Given the description of an element on the screen output the (x, y) to click on. 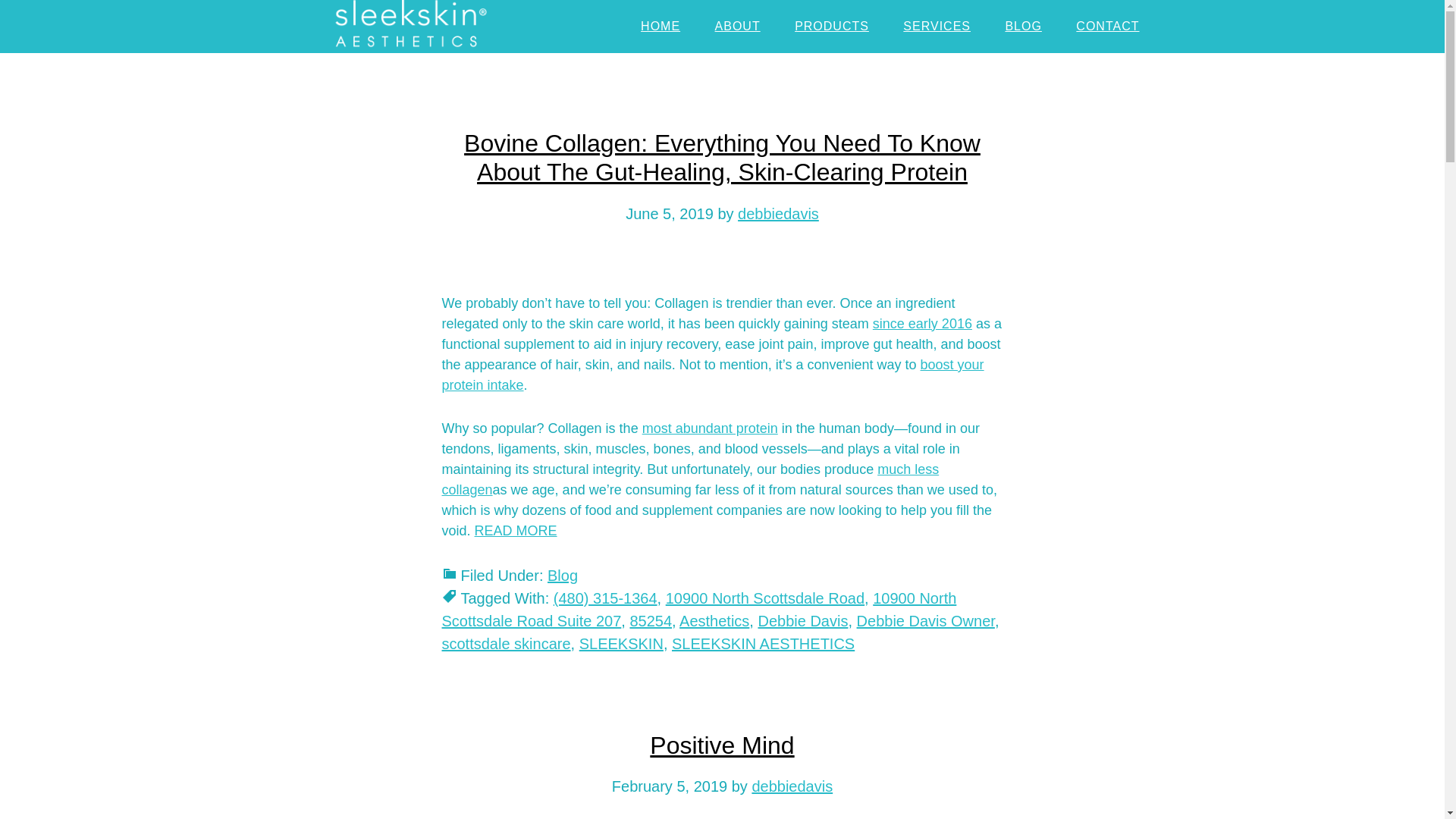
debbiedavis (778, 213)
most abundant protein (709, 427)
scottsdale skincare (505, 643)
BLOG (1023, 26)
Debbie Davis (802, 620)
10900 North Scottsdale Road Suite 207 (698, 609)
PRODUCTS (830, 26)
HOME (660, 26)
ABOUT (738, 26)
boost your protein intake (712, 375)
